Given the description of an element on the screen output the (x, y) to click on. 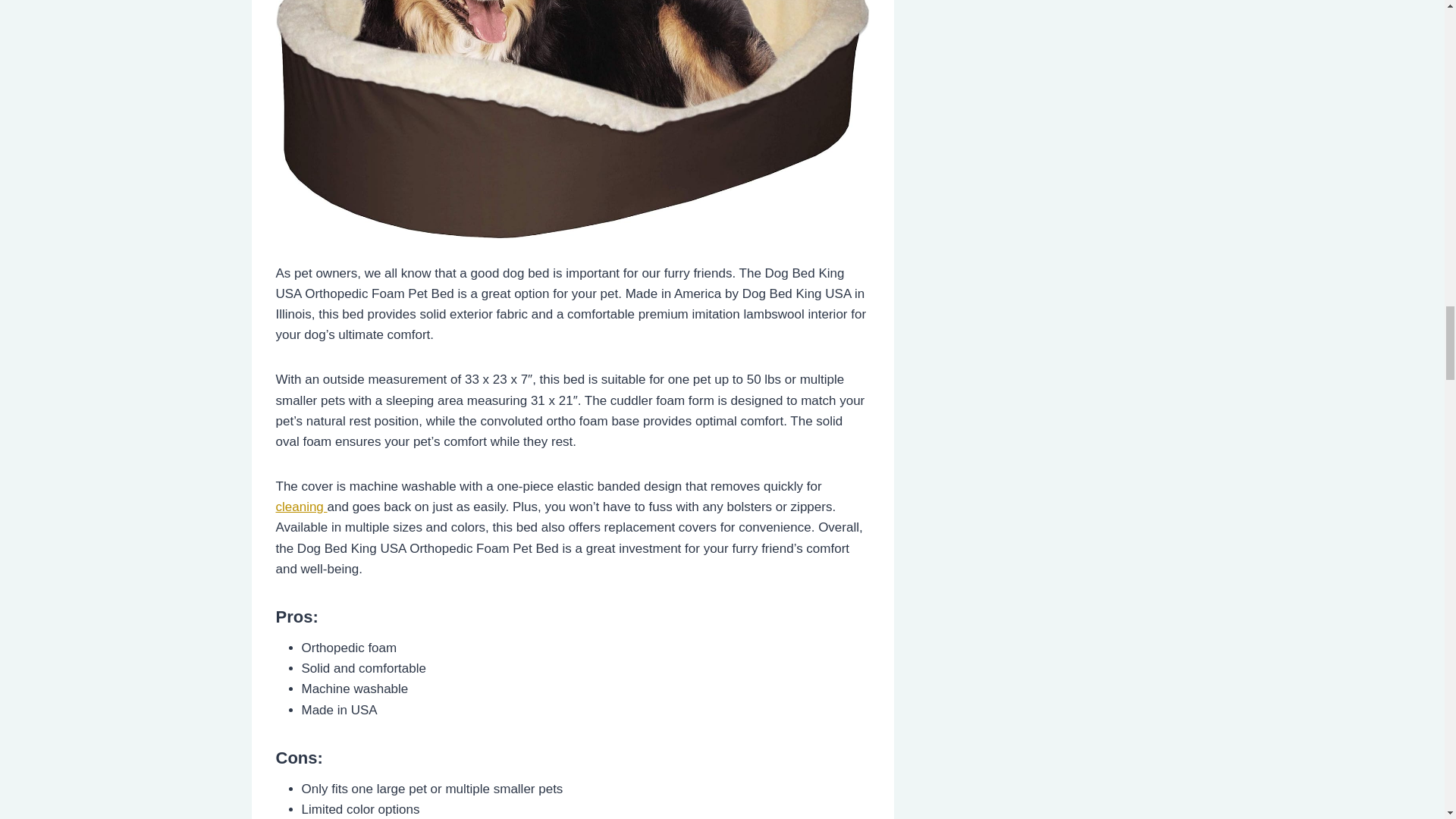
cleaning (301, 506)
